Given the description of an element on the screen output the (x, y) to click on. 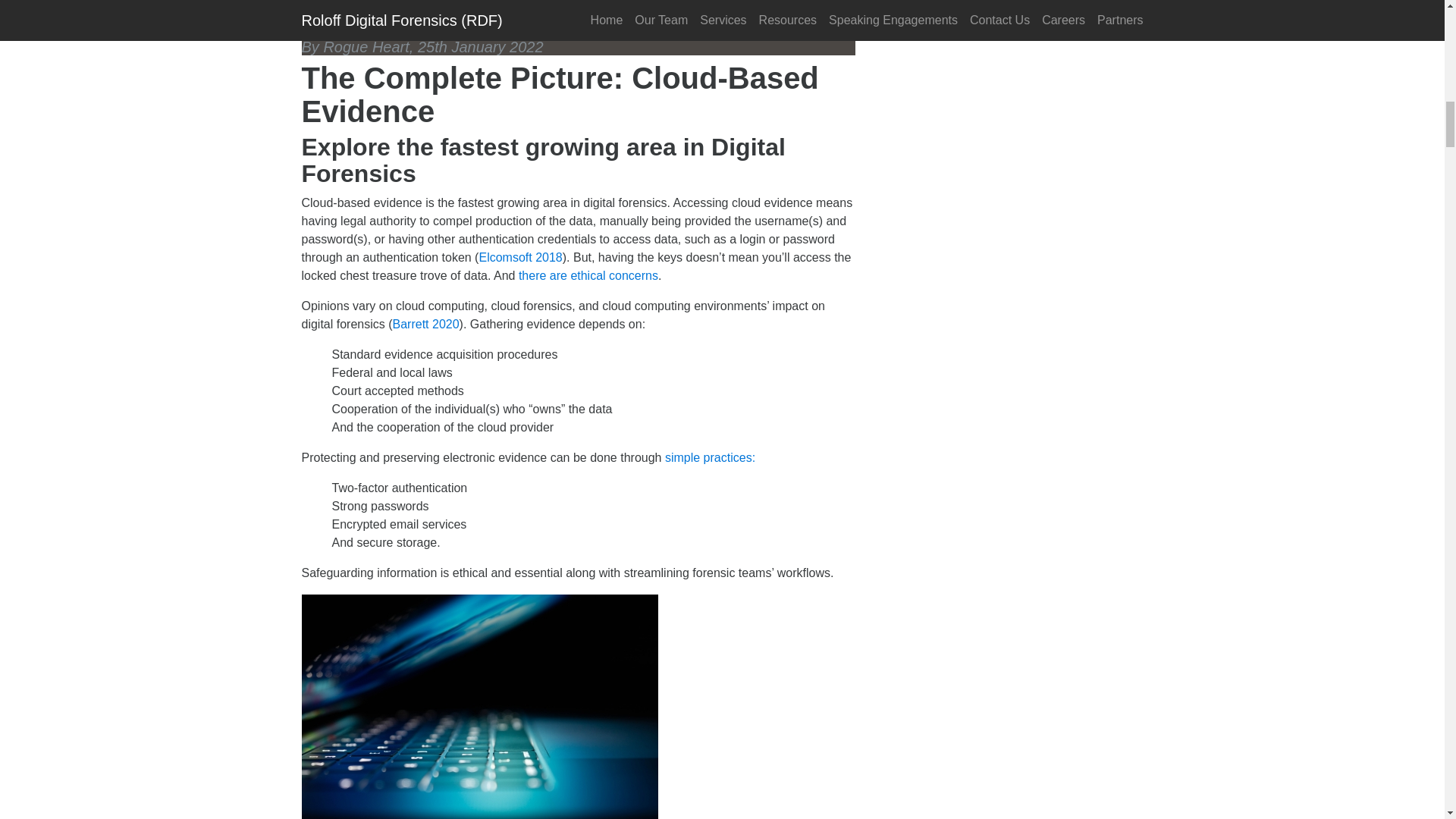
Barrett 2020 (426, 323)
there are ethical concerns (588, 275)
simple practices: (710, 457)
The Complete Picture: Cloud-Based Evidence (548, 18)
Elcomsoft 2018 (520, 256)
